Given the description of an element on the screen output the (x, y) to click on. 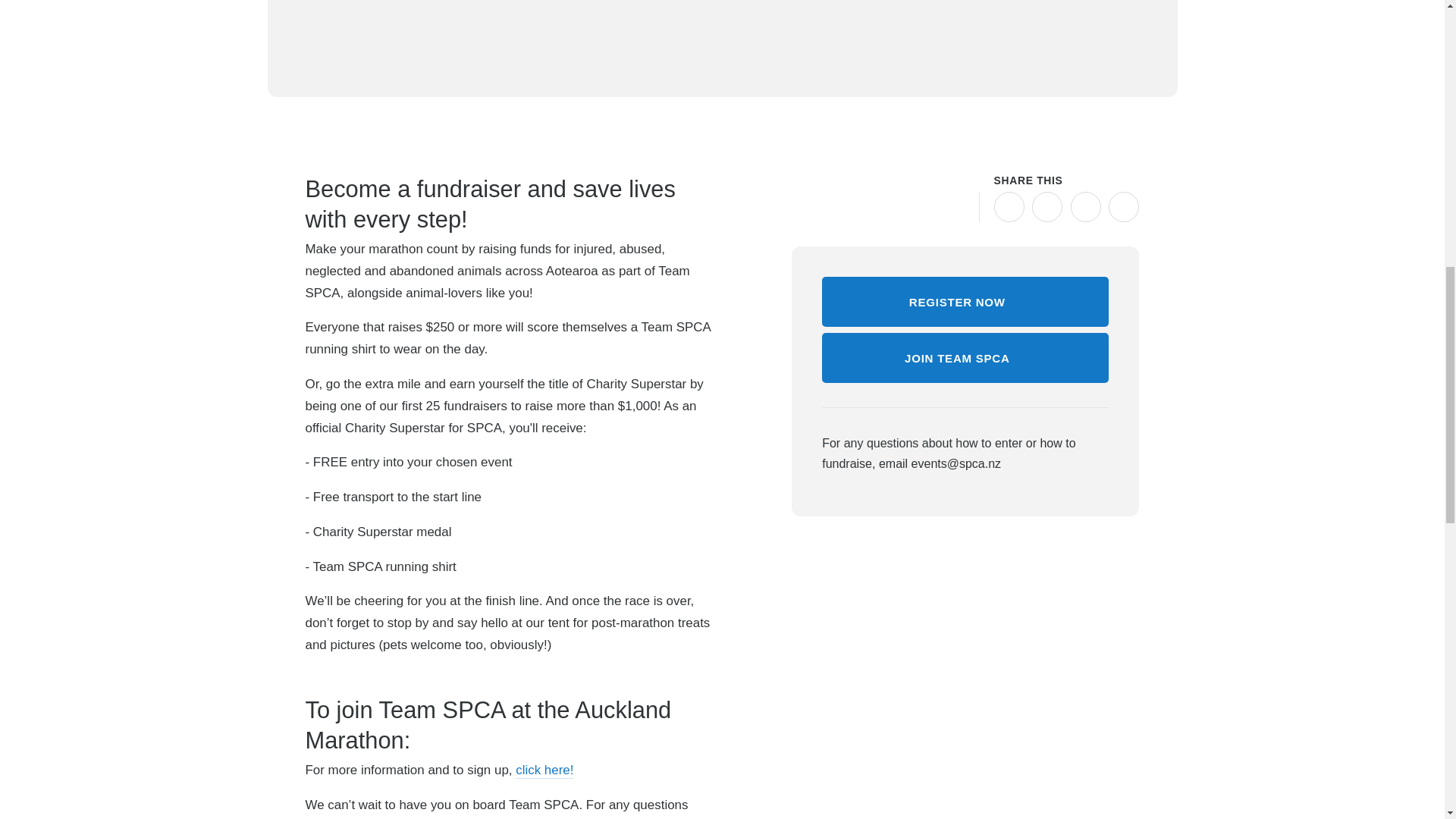
Share on Twitter (1047, 206)
Email this article (1085, 206)
Share on Facebook (1009, 206)
Copy this article's URL (1123, 206)
Print this page (958, 206)
